Given the description of an element on the screen output the (x, y) to click on. 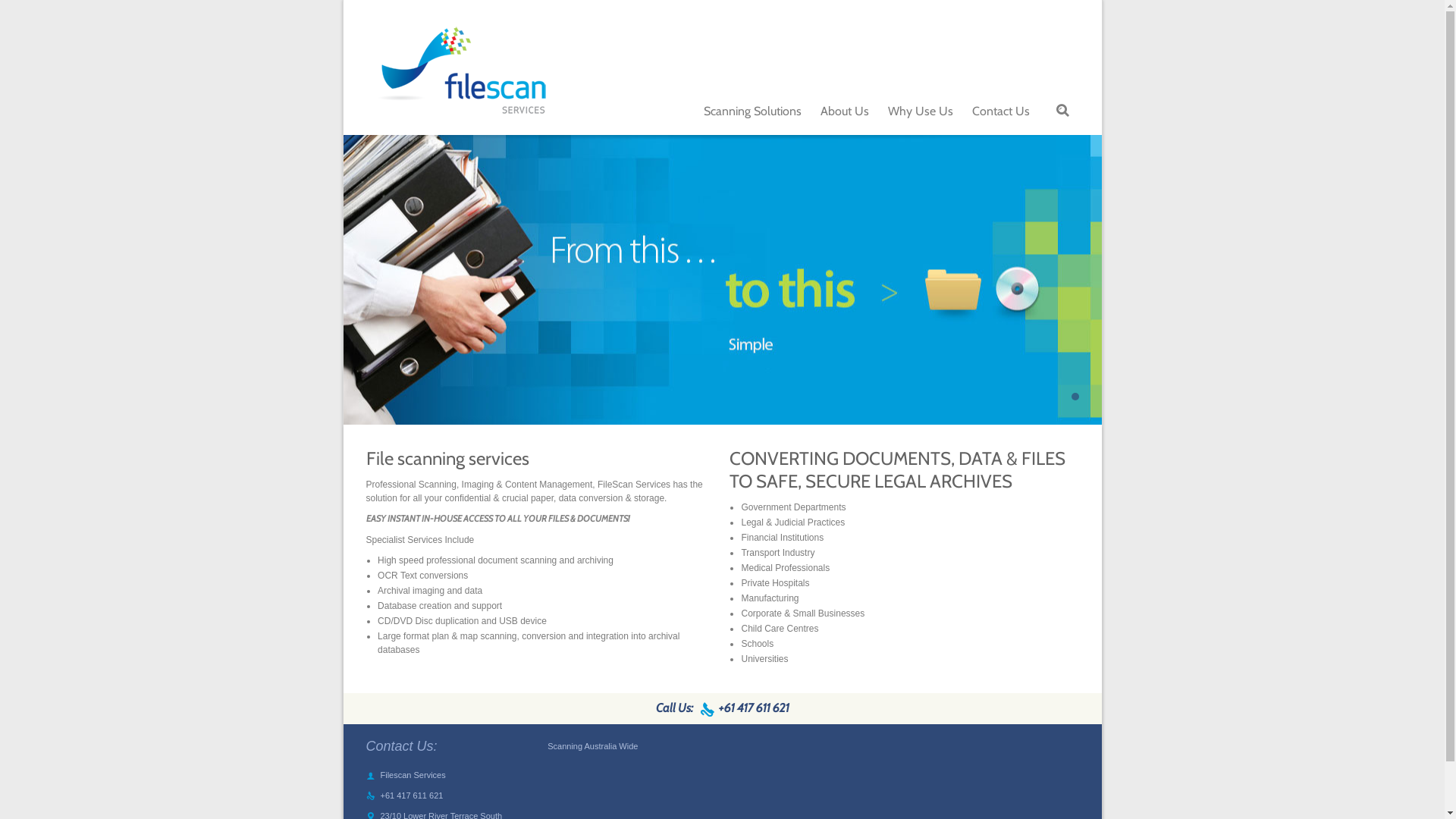
Scanning Solutions Element type: text (752, 112)
Filescan Element type: hover (459, 74)
Skip to content Element type: text (1040, 90)
Why Use Us Element type: text (919, 112)
Contact Us Element type: text (1000, 112)
About Us Element type: text (844, 112)
